Given the description of an element on the screen output the (x, y) to click on. 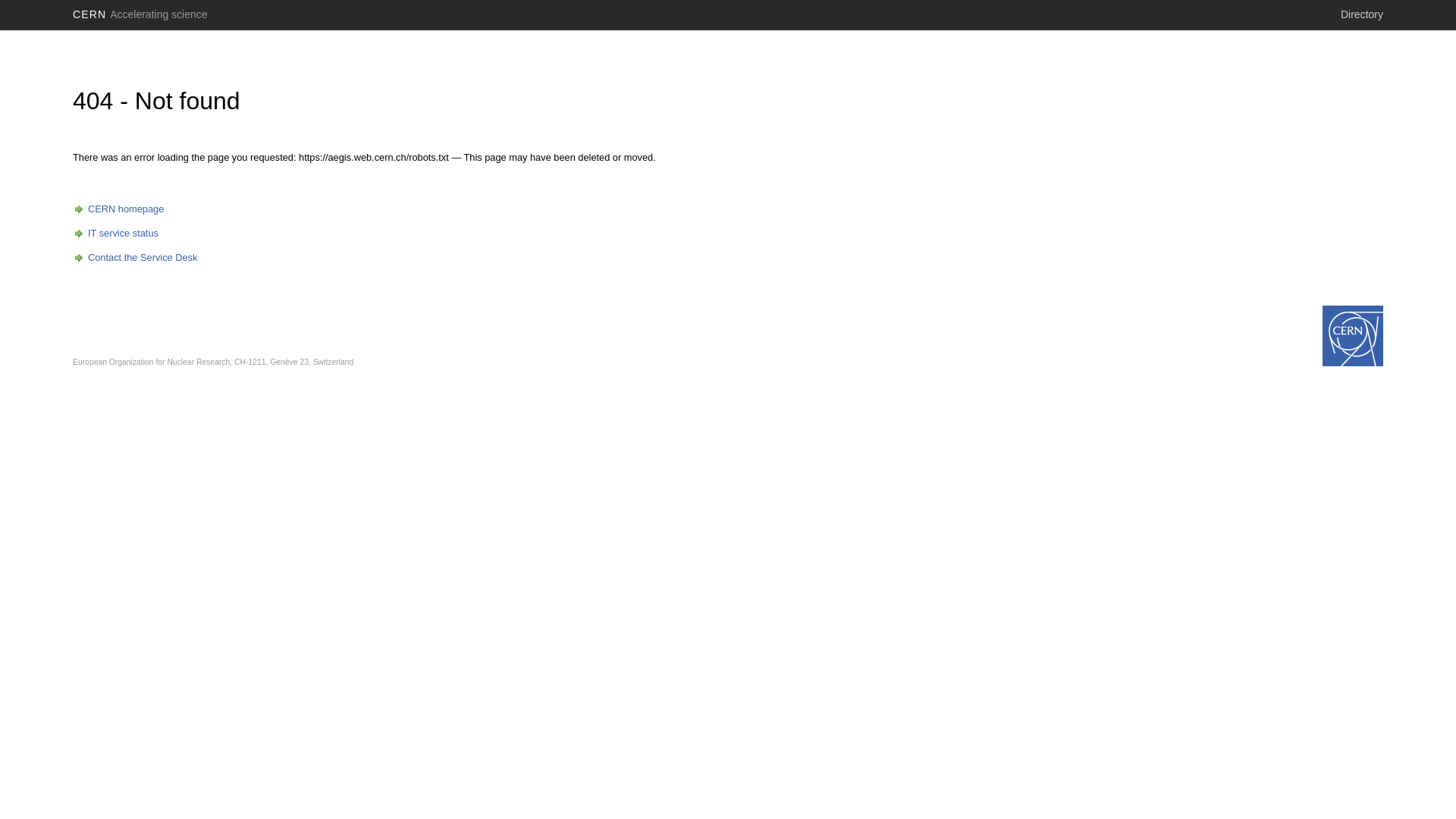
IT service status Element type: text (115, 232)
Directory Element type: text (1361, 14)
Contact the Service Desk Element type: text (134, 257)
www.cern.ch Element type: hover (1352, 335)
CERN homepage Element type: text (117, 208)
CERN Accelerating science Element type: text (139, 14)
